Given the description of an element on the screen output the (x, y) to click on. 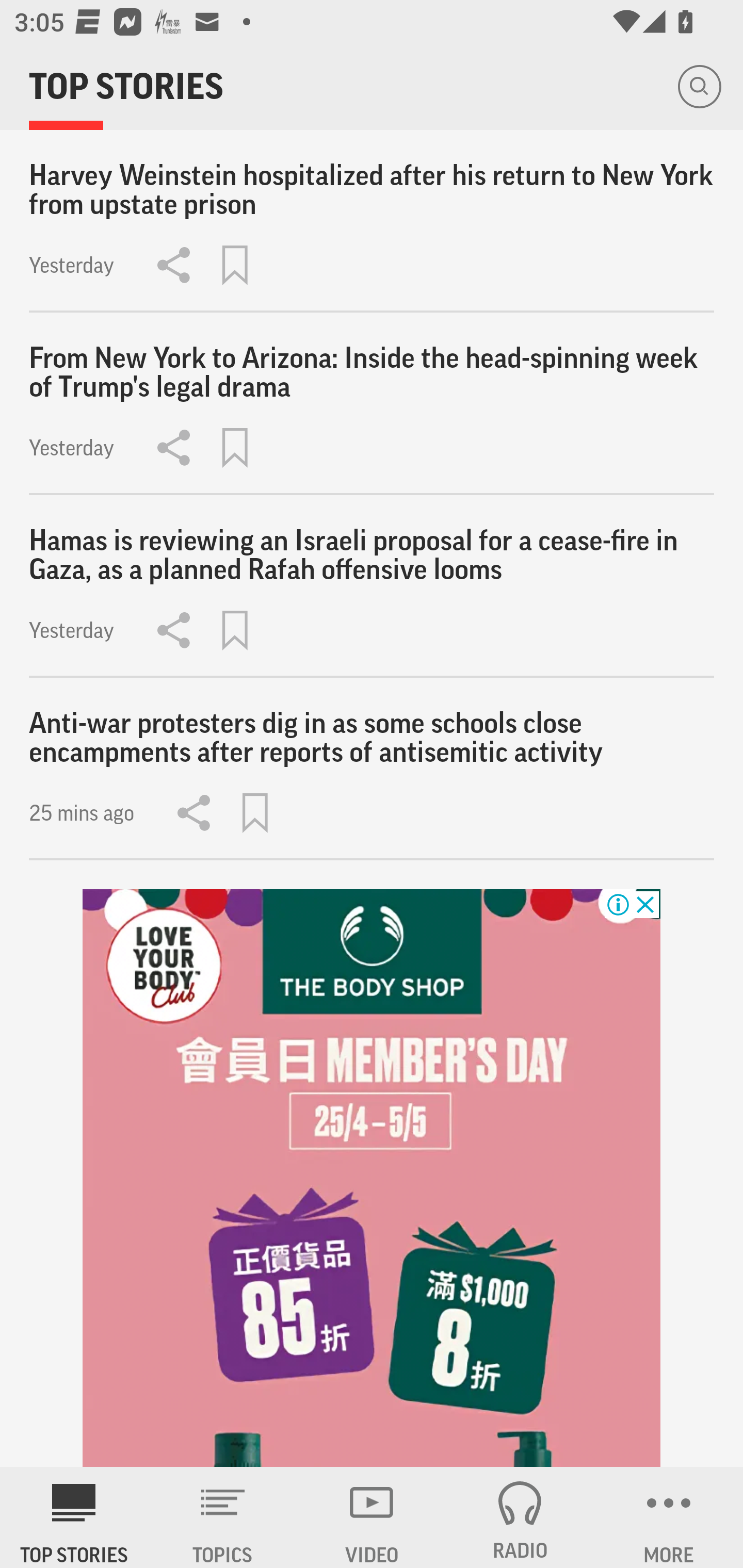
AP News TOP STORIES (74, 1517)
TOPICS (222, 1517)
VIDEO (371, 1517)
RADIO (519, 1517)
MORE (668, 1517)
